Given the description of an element on the screen output the (x, y) to click on. 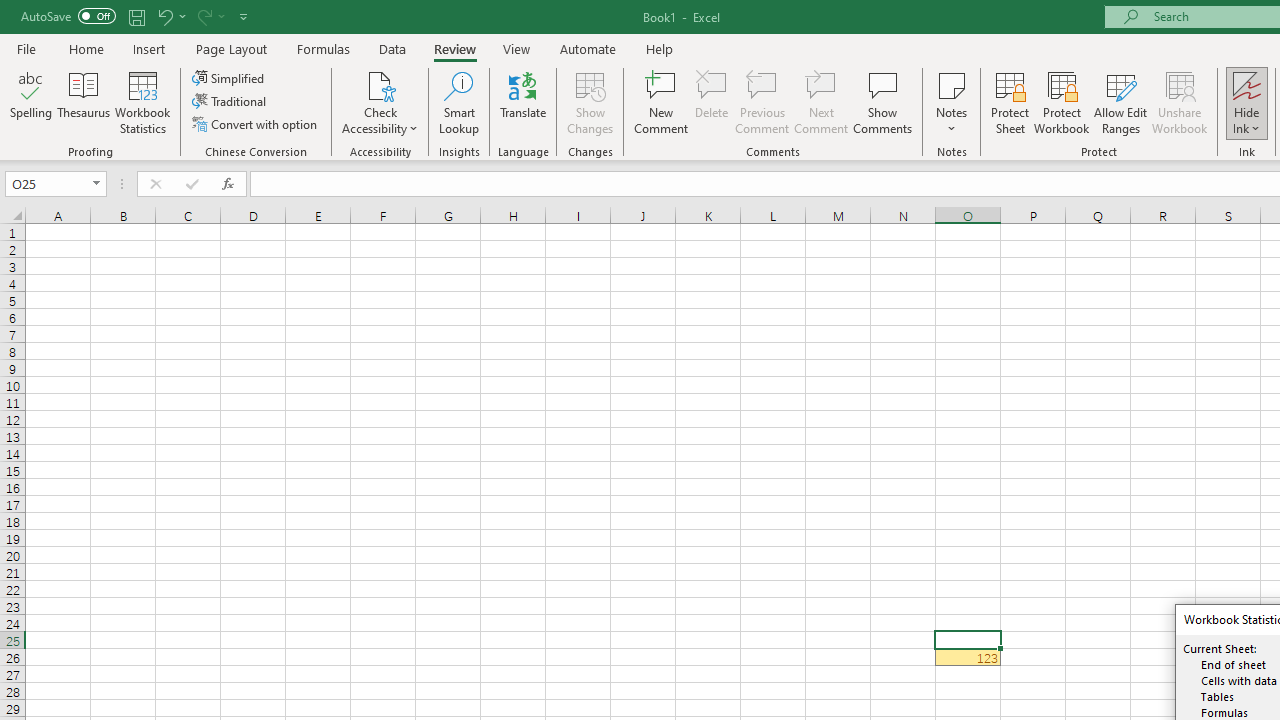
Next Comment (821, 102)
New Comment (661, 102)
Show Changes (589, 102)
Thesaurus... (83, 102)
Previous Comment (762, 102)
Simplified (230, 78)
